Given the description of an element on the screen output the (x, y) to click on. 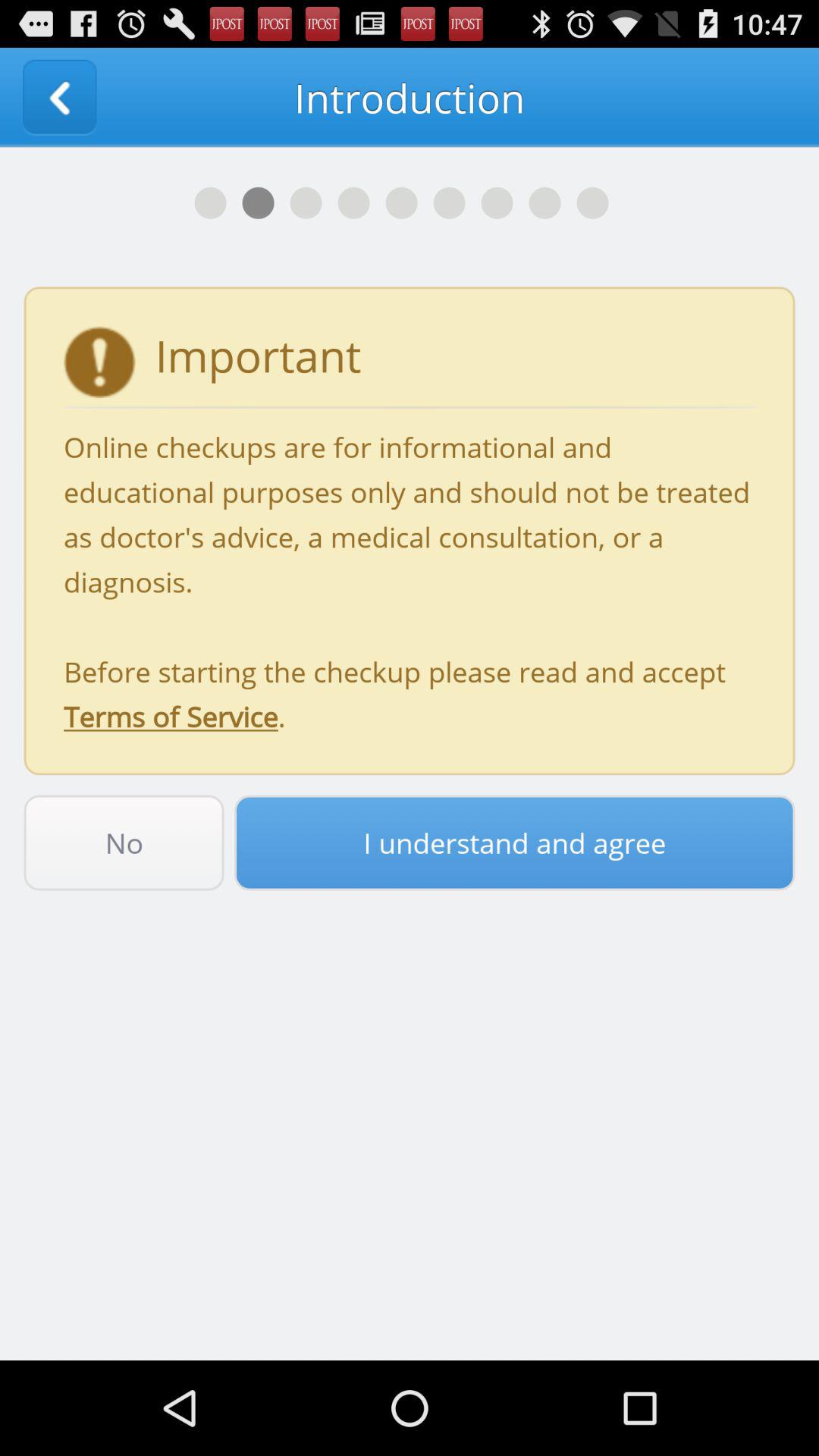
select icon above the no item (409, 581)
